Given the description of an element on the screen output the (x, y) to click on. 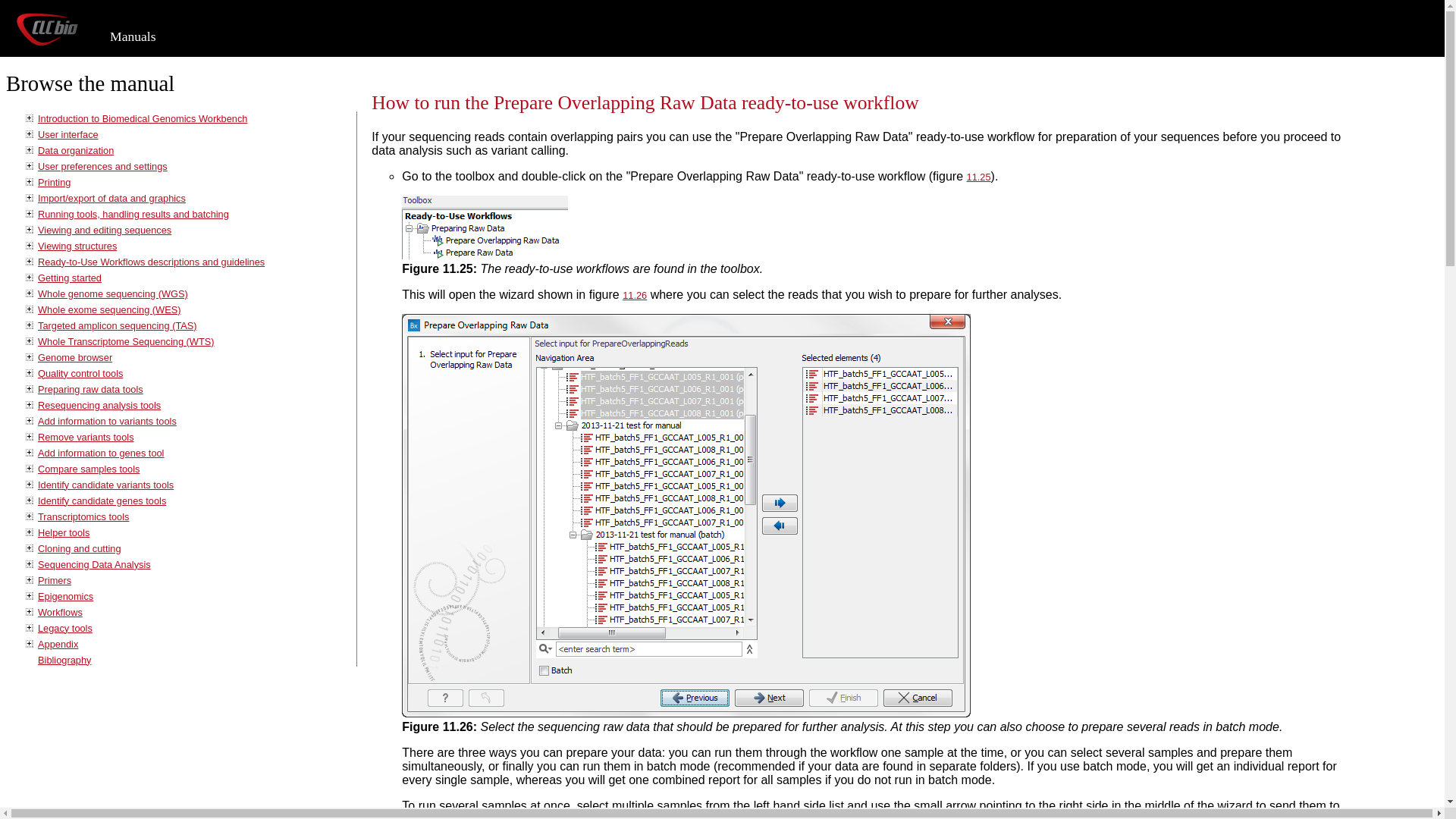
Manuals (132, 36)
Introduction to Biomedical Genomics Workbench (142, 118)
User interface (68, 134)
